Given the description of an element on the screen output the (x, y) to click on. 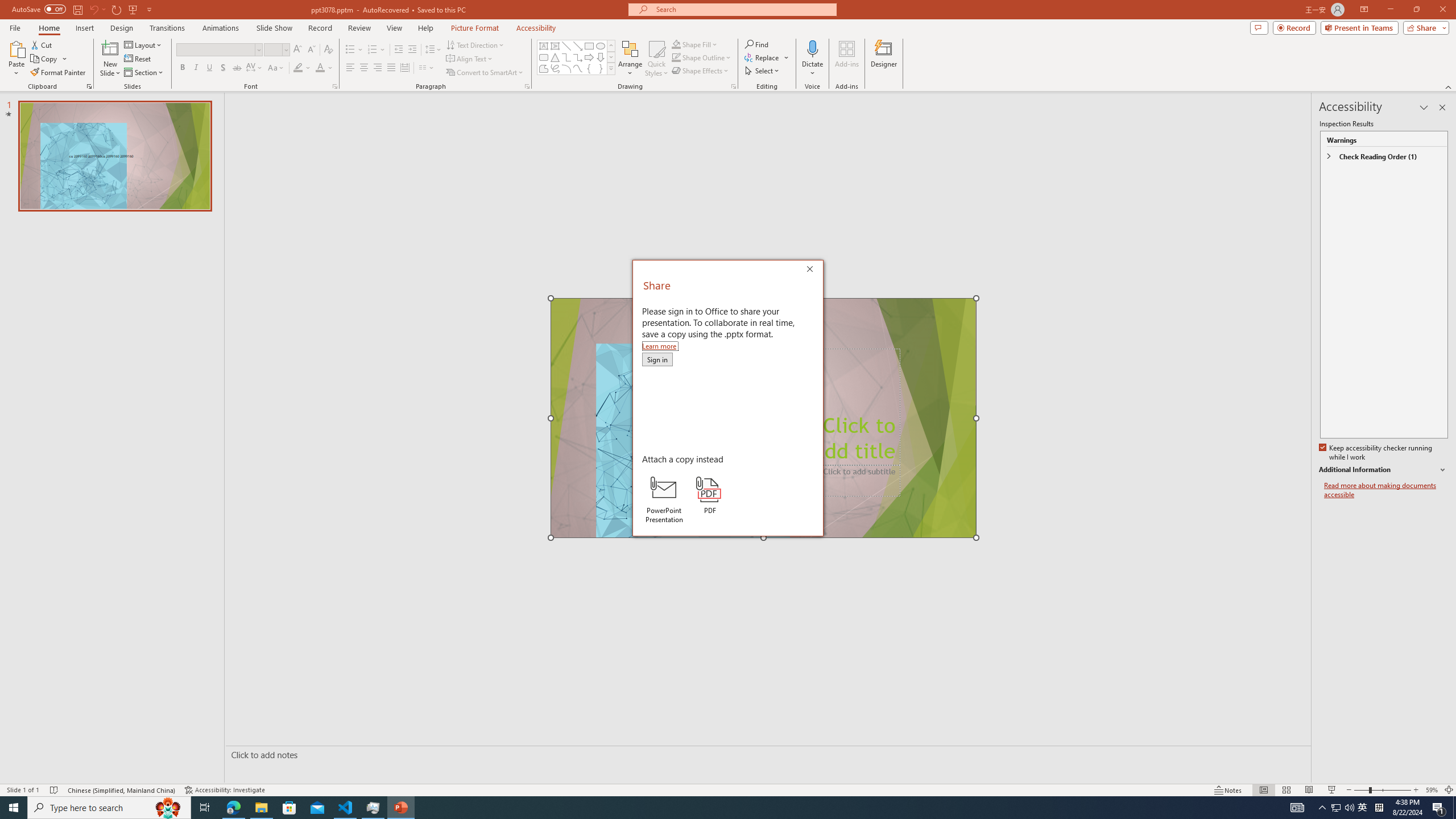
Start (13, 807)
Picture Format (475, 28)
Tray Input Indicator - Chinese (Simplified, China) (1378, 807)
Q2790: 100% (1349, 807)
Convert to SmartArt (485, 72)
Align Right (377, 67)
Arrange (630, 58)
AutomationID: 4105 (1297, 807)
